Given the description of an element on the screen output the (x, y) to click on. 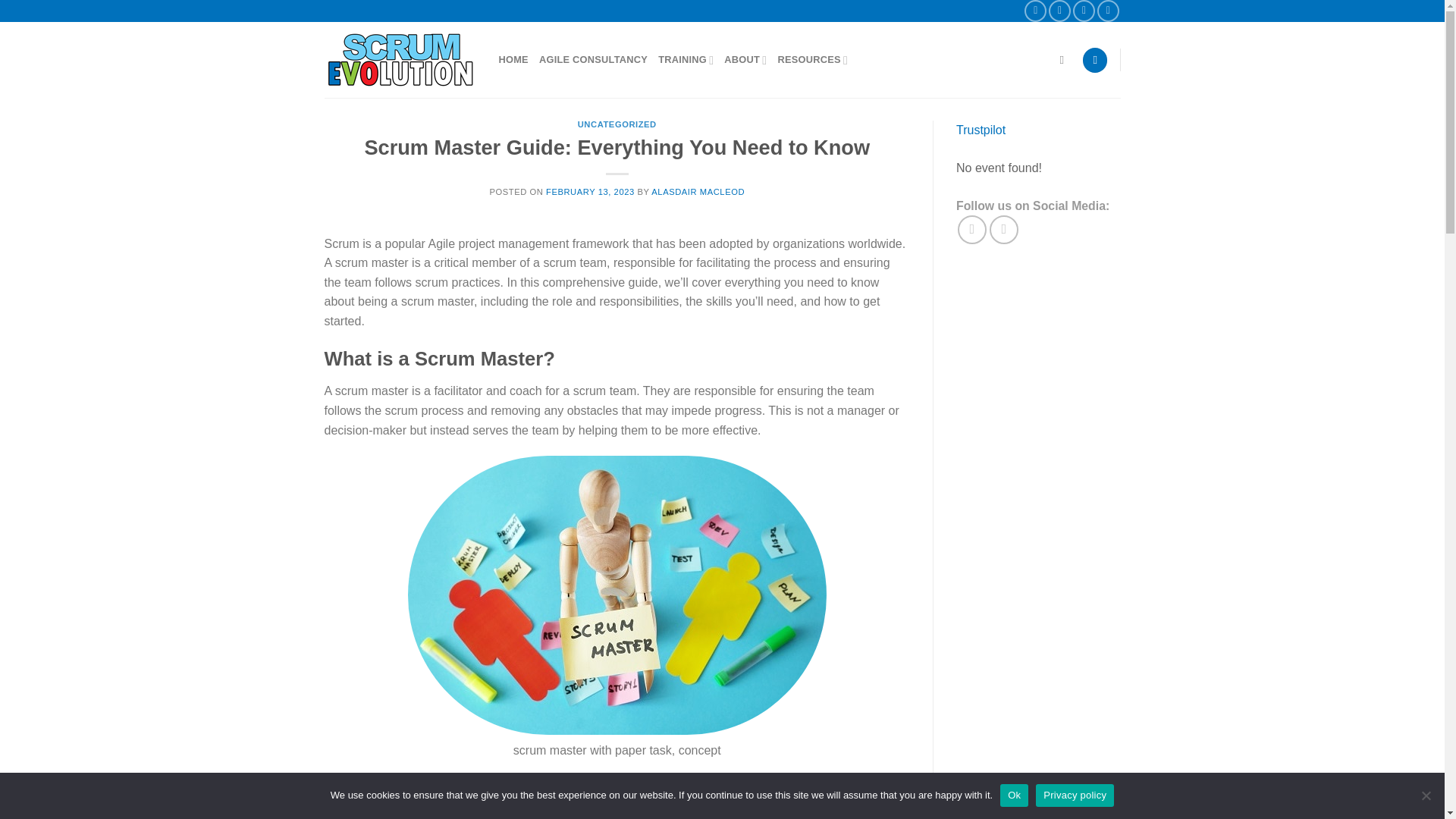
Follow on Facebook (1035, 11)
Send us an email (1083, 11)
RESOURCES (812, 60)
AGILE CONSULTANCY (592, 59)
HOME (513, 59)
Login (1094, 59)
TRAINING (685, 60)
ABOUT (745, 60)
Follow on LinkedIn (1108, 11)
Follow on Twitter (1059, 11)
